Given the description of an element on the screen output the (x, y) to click on. 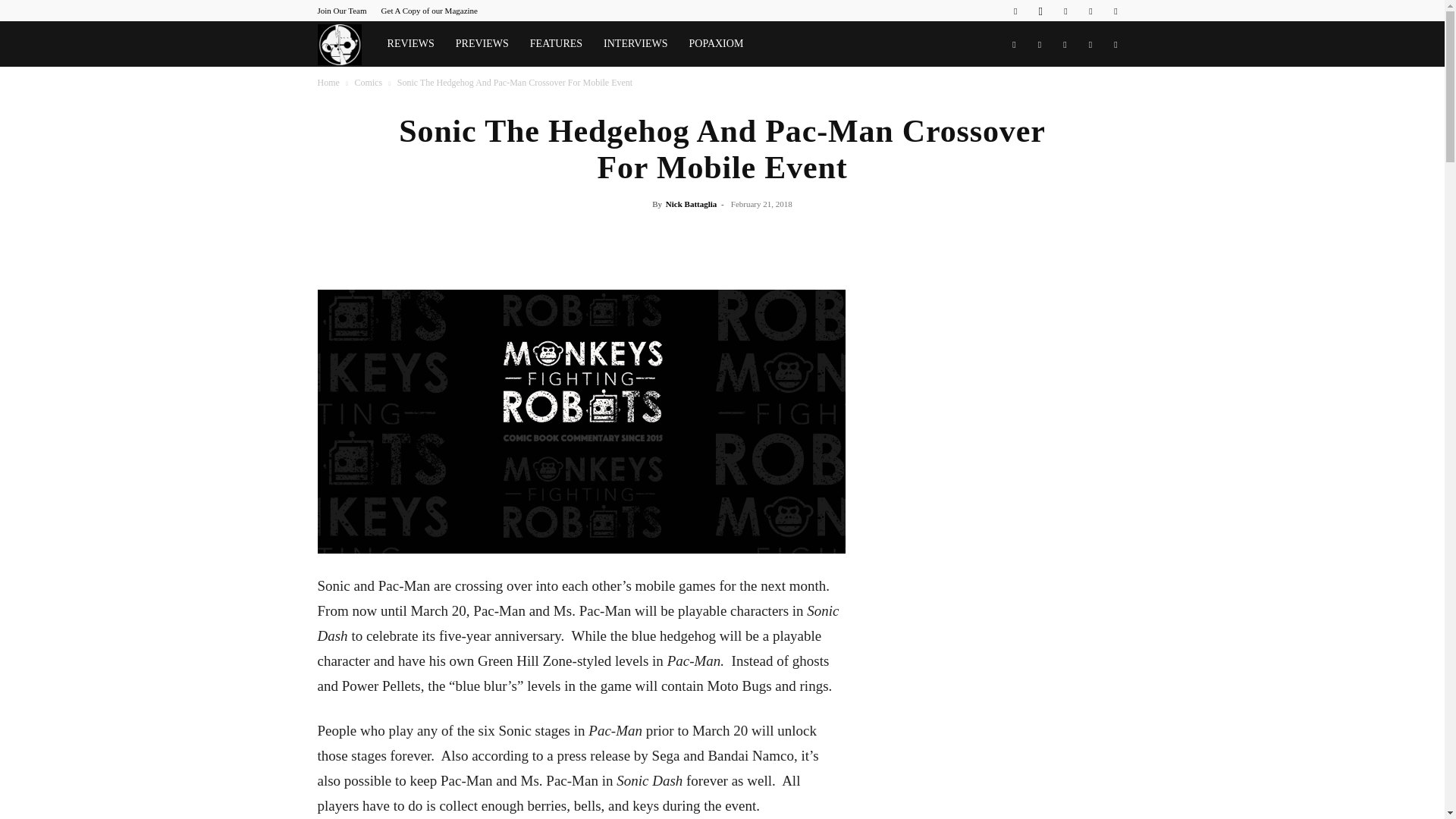
POPAXIOM (716, 43)
REVIEWS (411, 43)
Home (328, 81)
Monkeys Fighting Robots (346, 44)
Youtube (1114, 10)
Comics (367, 81)
Twitter (1090, 10)
INTERVIEWS (635, 43)
Reddit (1065, 10)
Instagram (1040, 10)
